Given the description of an element on the screen output the (x, y) to click on. 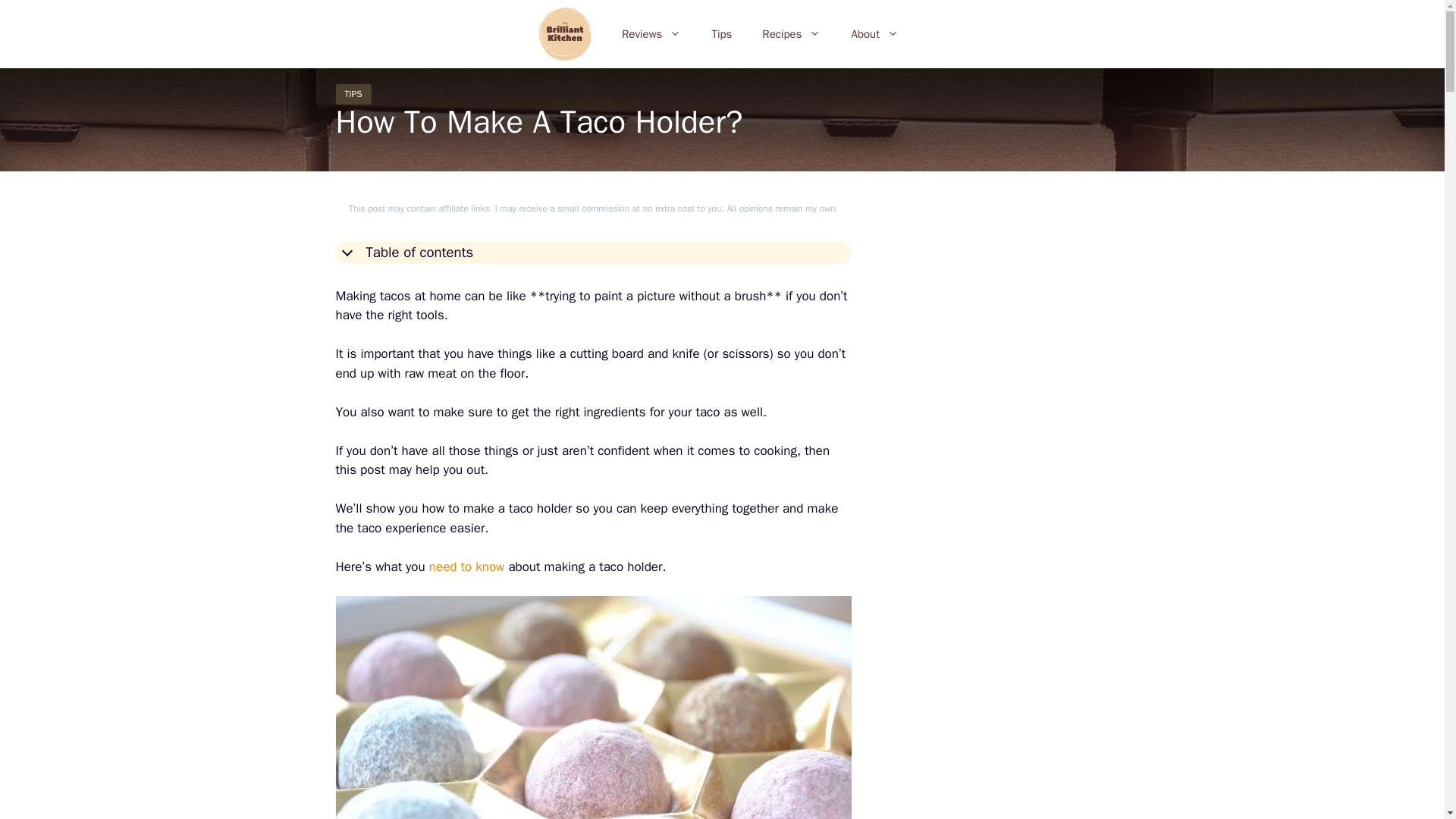
Tips (720, 33)
The Brilliant Kitchen (568, 33)
Table of contents (592, 251)
About (873, 33)
Recipes (790, 33)
Reviews (651, 33)
TIPS (352, 94)
